Given the description of an element on the screen output the (x, y) to click on. 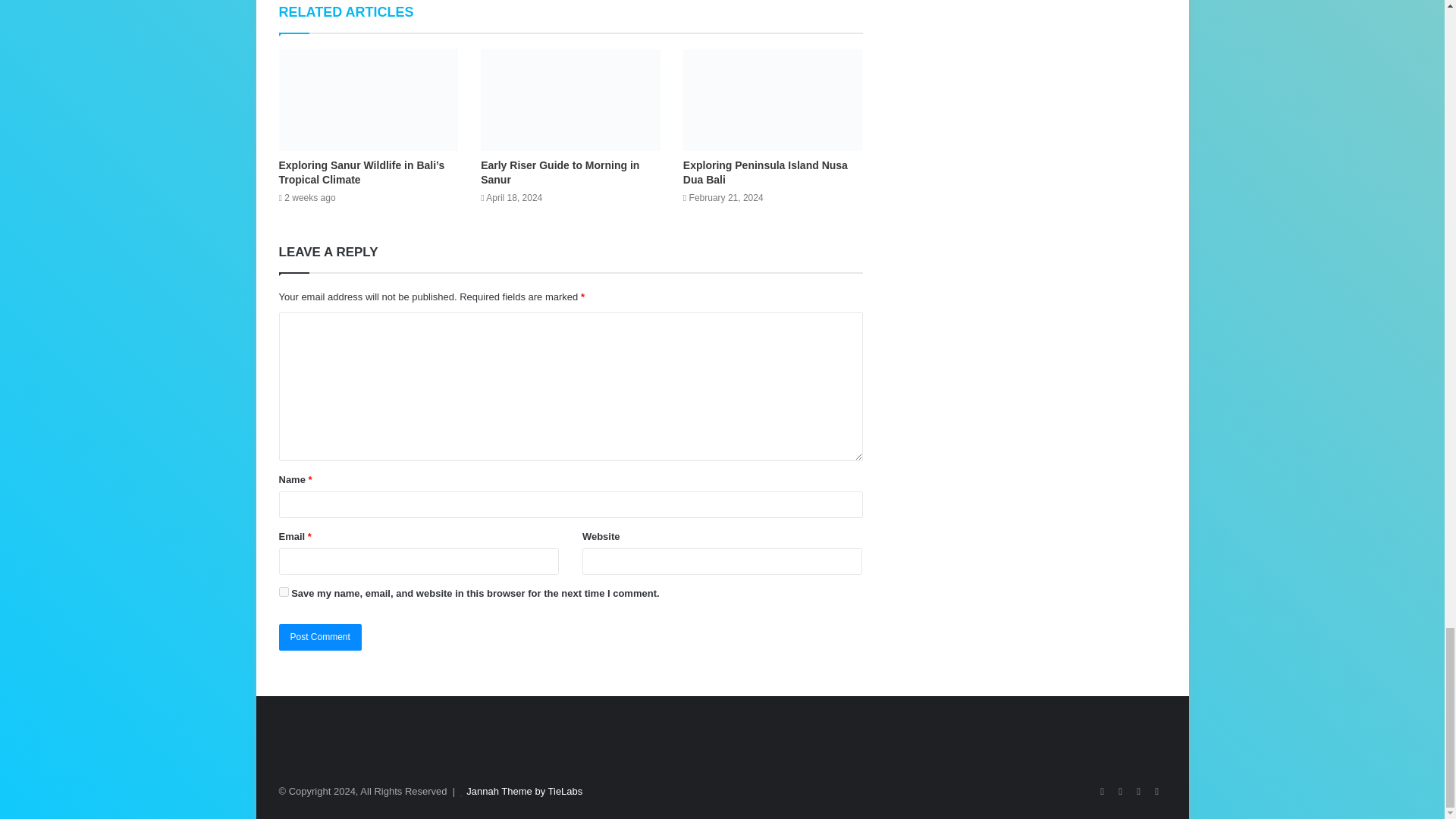
Early Riser Guide to Morning in Sanur (559, 171)
Early Riser Guide to Morning in Sanur (559, 171)
Exploring Peninsula Island Nusa Dua Bali (764, 171)
Post Comment (320, 637)
Early Riser Guide to Morning in Sanur (570, 99)
Exploring Peninsula Island Nusa Dua Bali (764, 171)
Exploring Peninsula Island Nusa Dua Bali (772, 99)
yes (283, 592)
